Given the description of an element on the screen output the (x, y) to click on. 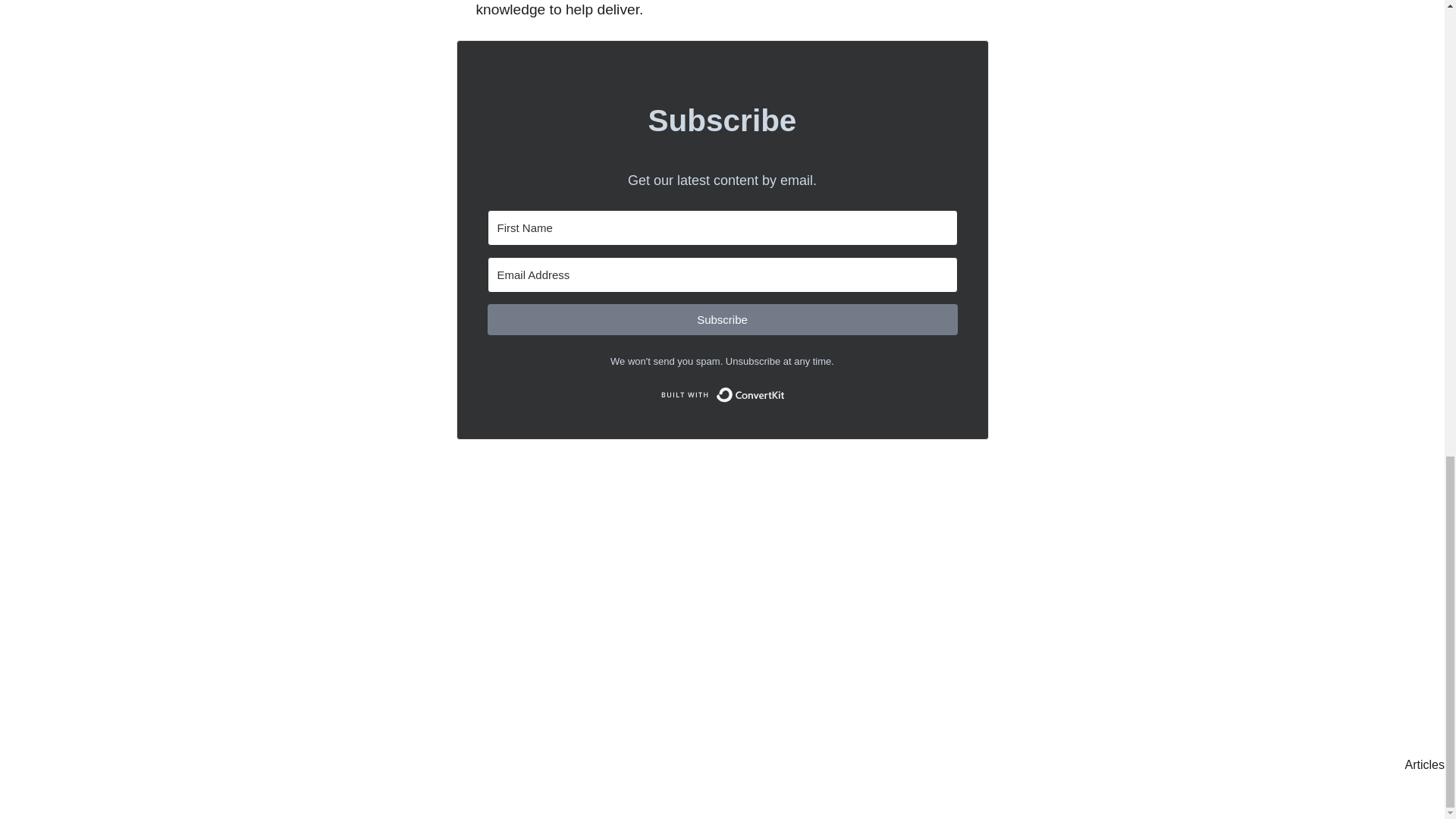
Subscribe (721, 318)
Built with ConvertKit (722, 394)
